Given the description of an element on the screen output the (x, y) to click on. 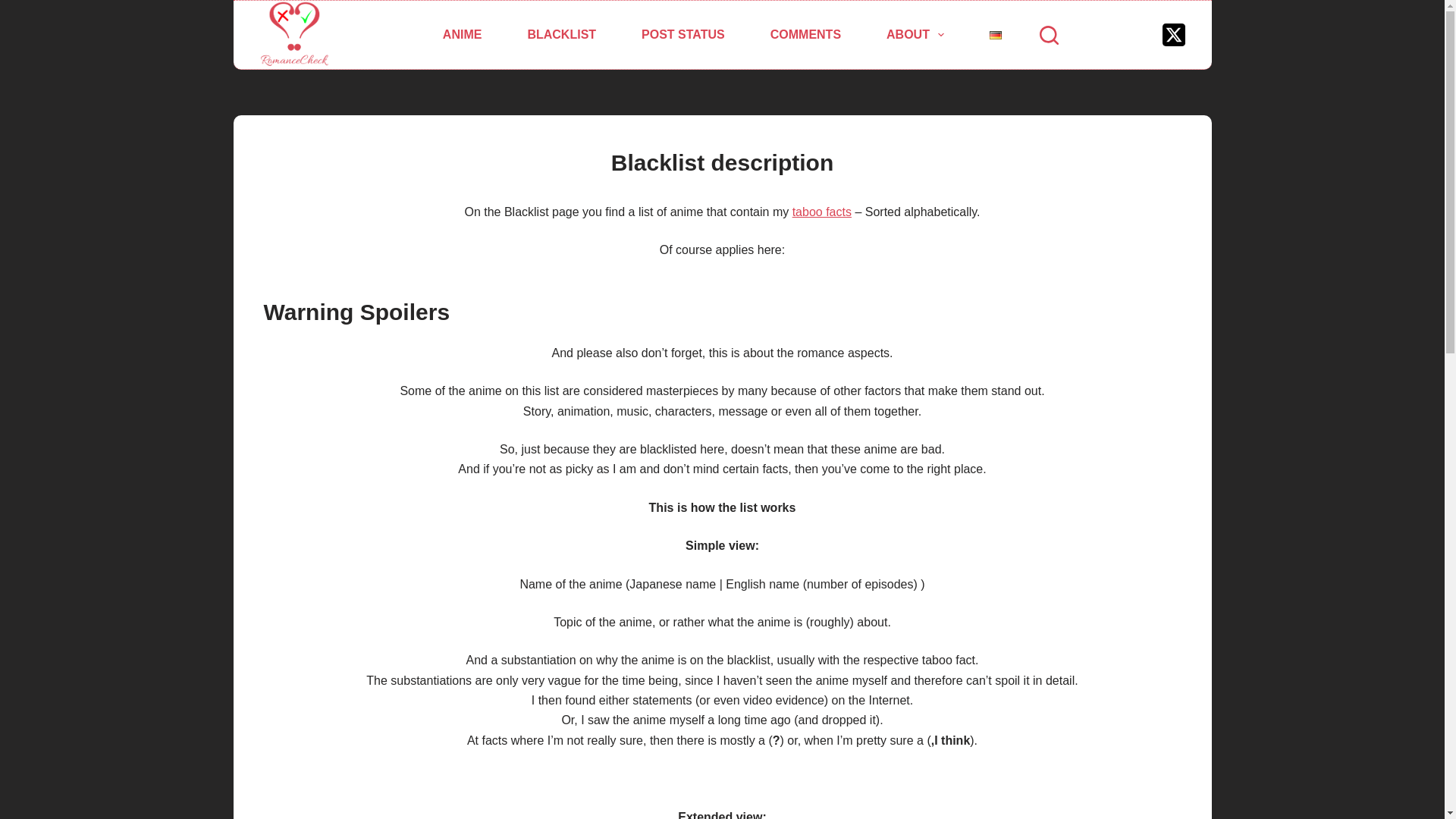
POST STATUS (683, 34)
BLACKLIST (560, 34)
ANIME (462, 34)
ABOUT (914, 34)
COMMENTS (805, 34)
Skip to content (15, 7)
Blacklist description (721, 162)
taboo facts (821, 211)
